Given the description of an element on the screen output the (x, y) to click on. 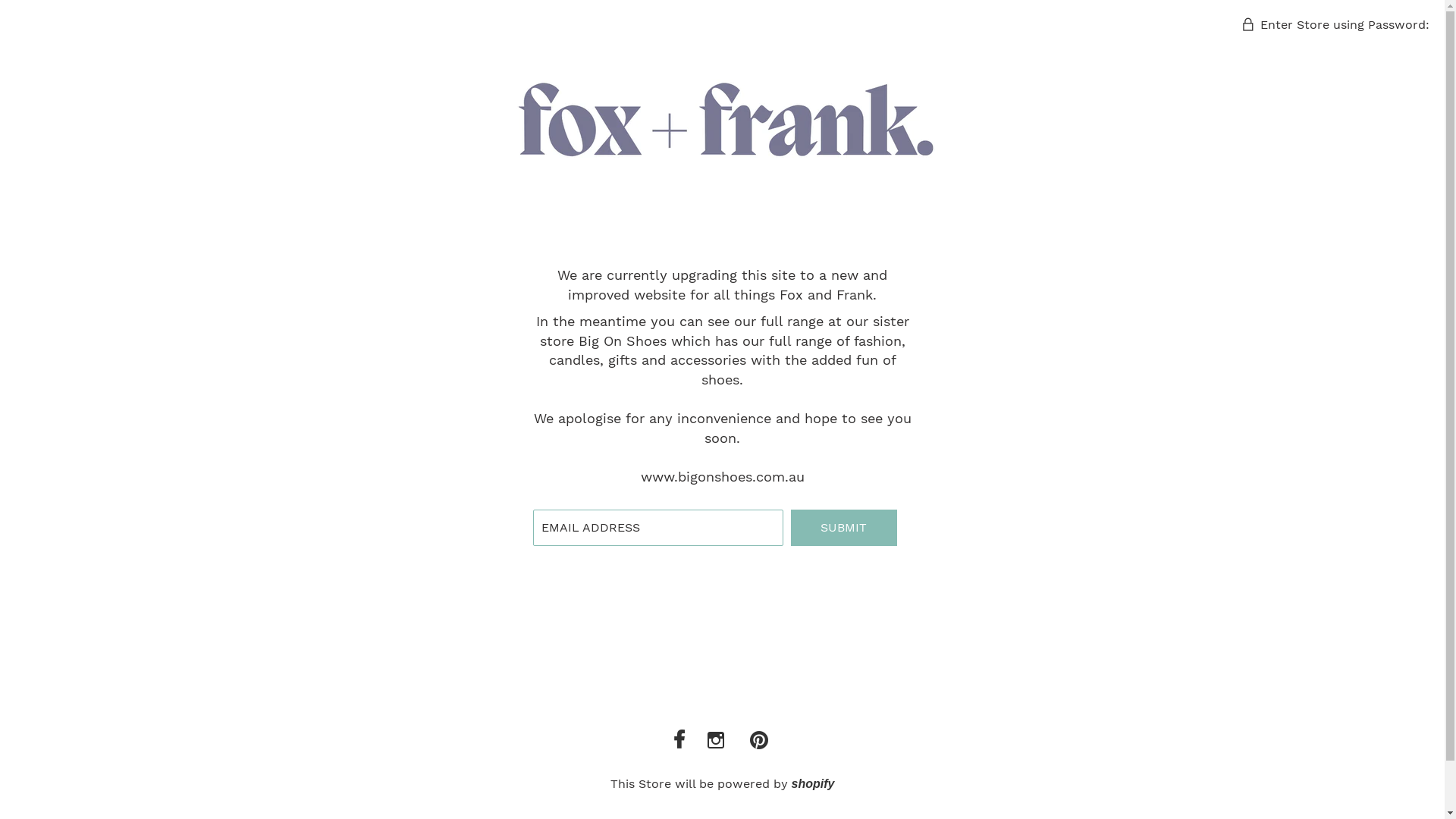
shopify Element type: text (812, 783)
Submit Element type: text (843, 527)
